Given the description of an element on the screen output the (x, y) to click on. 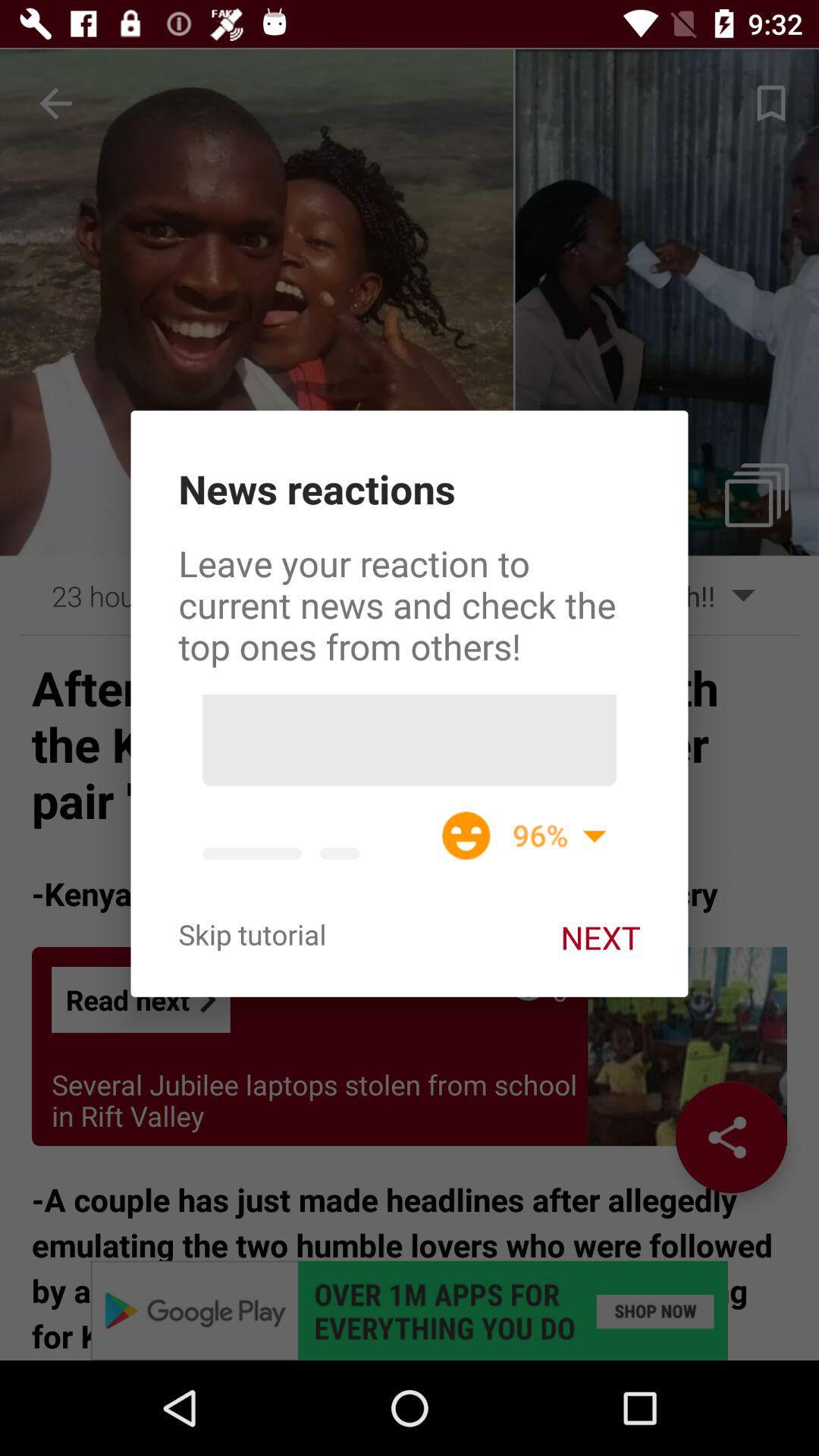
swipe to skip tutorial icon (252, 934)
